Given the description of an element on the screen output the (x, y) to click on. 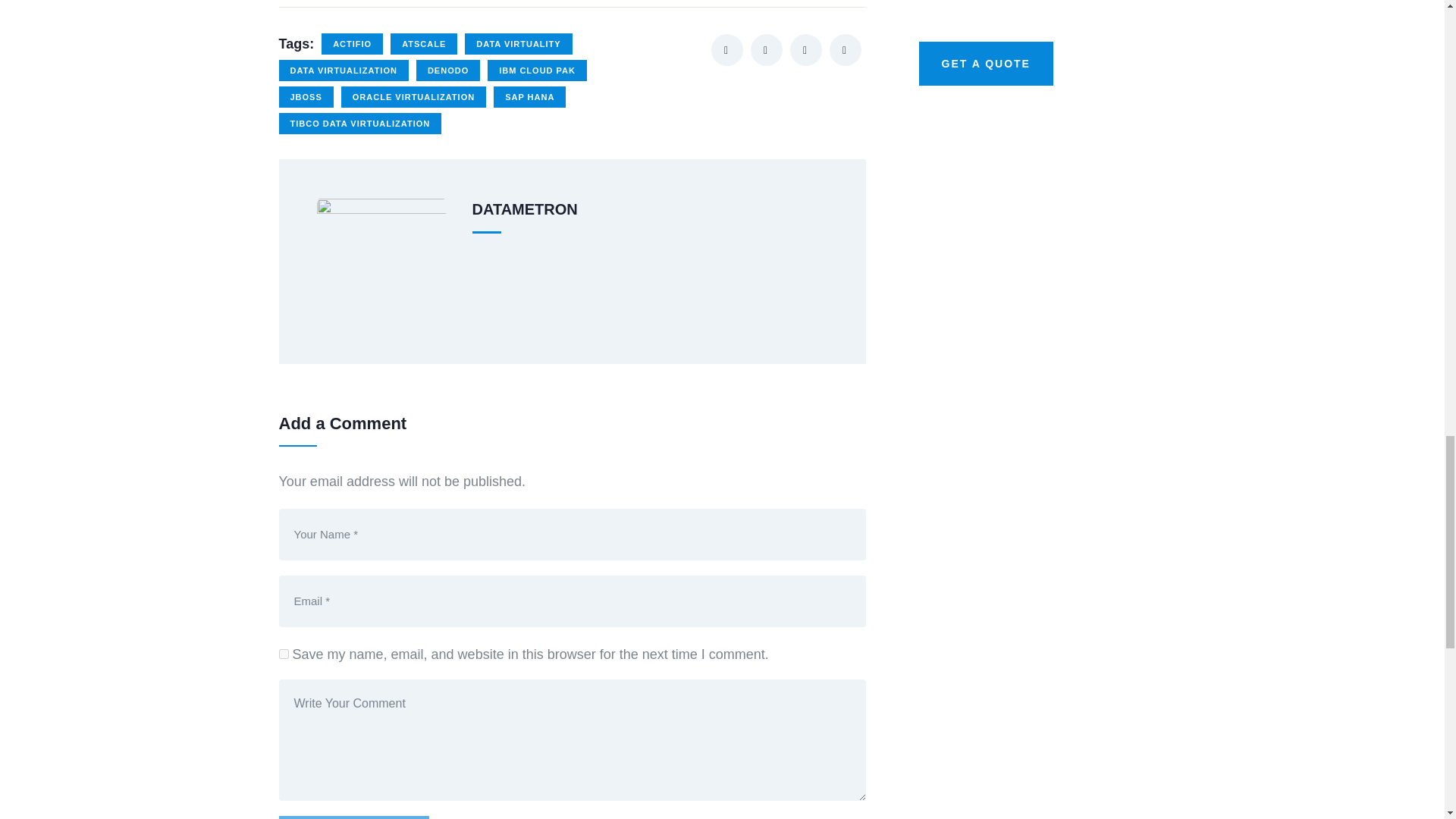
JBOSS (306, 96)
Post Comment (354, 817)
DATA VIRTUALIZATION (344, 70)
DATA VIRTUALITY (518, 43)
DENODO (448, 70)
ATSCALE (423, 43)
yes (283, 654)
IBM CLOUD PAK (536, 70)
ORACLE VIRTUALIZATION (413, 96)
ACTIFIO (351, 43)
